Given the description of an element on the screen output the (x, y) to click on. 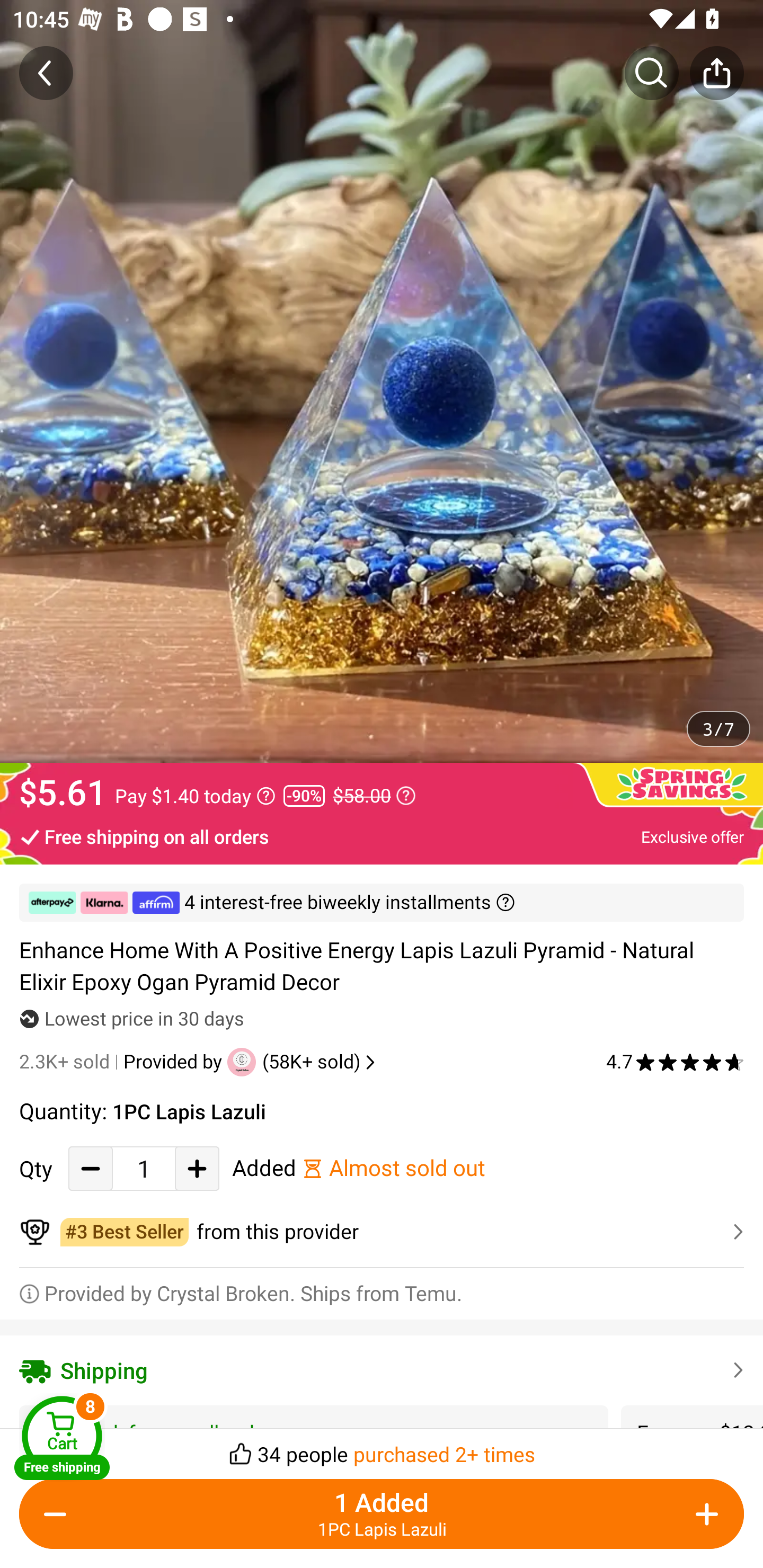
Back (46, 72)
Share (716, 72)
Pay $1.40 today   (195, 795)
Free shipping on all orders Exclusive offer (381, 836)
￼ ￼ ￼ 4 interest-free biweekly installments ￼ (381, 902)
2.3K+ sold Provided by  (123, 1061)
4.7 (674, 1061)
Decrease Quantity Button (90, 1168)
1 (143, 1168)
Add Quantity button (196, 1168)
￼￼from this provider (381, 1231)
Shipping (381, 1369)
Cart Free shipping Cart (61, 1437)
￼￼34 people purchased 2+ times (381, 1448)
Decrease Quantity Button (59, 1513)
Add Quantity button (703, 1513)
